Given the description of an element on the screen output the (x, y) to click on. 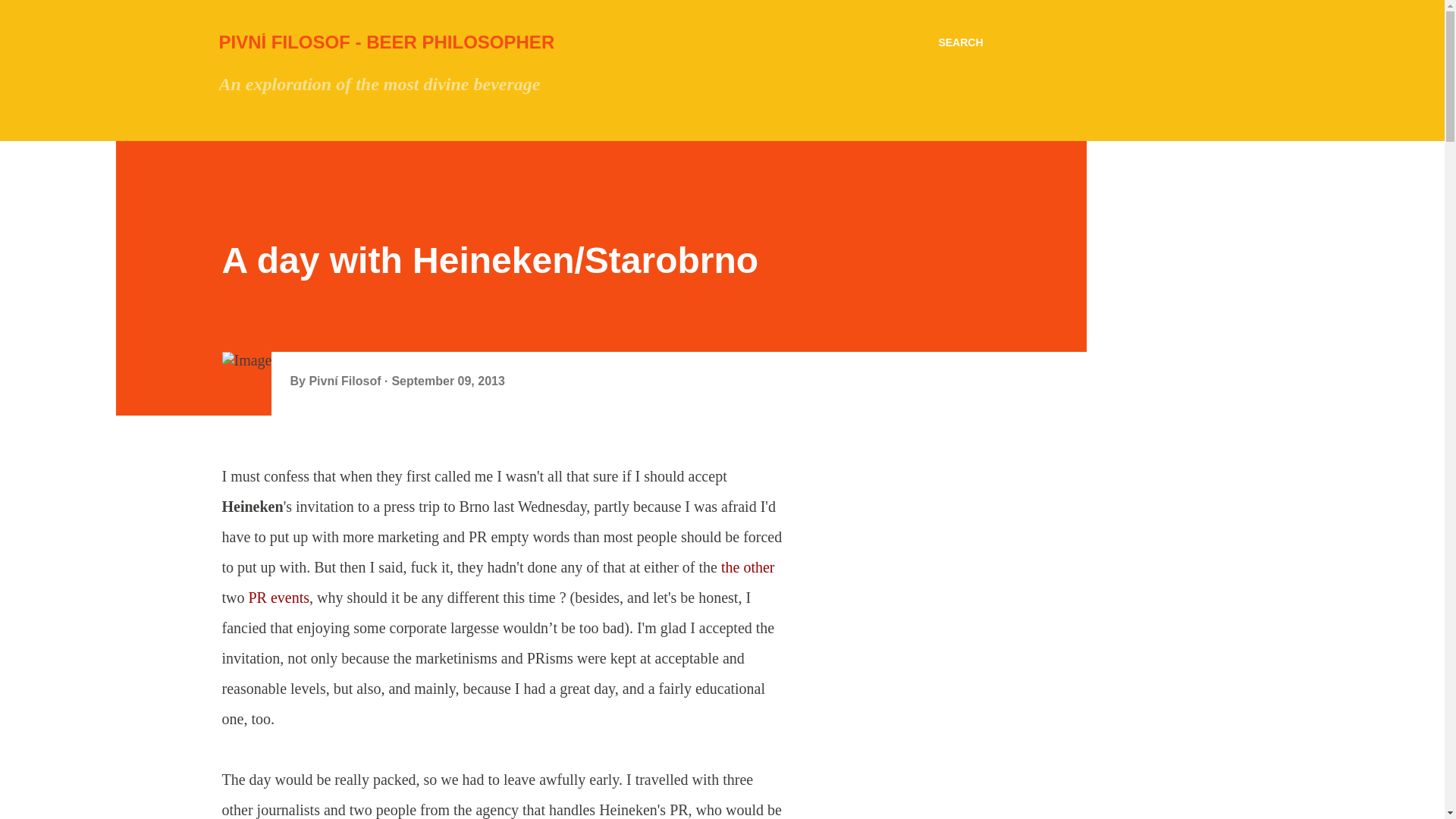
September 09, 2013 (447, 380)
author profile (346, 380)
the other (747, 566)
SEARCH (959, 42)
PR events (279, 597)
permanent link (447, 380)
